Given the description of an element on the screen output the (x, y) to click on. 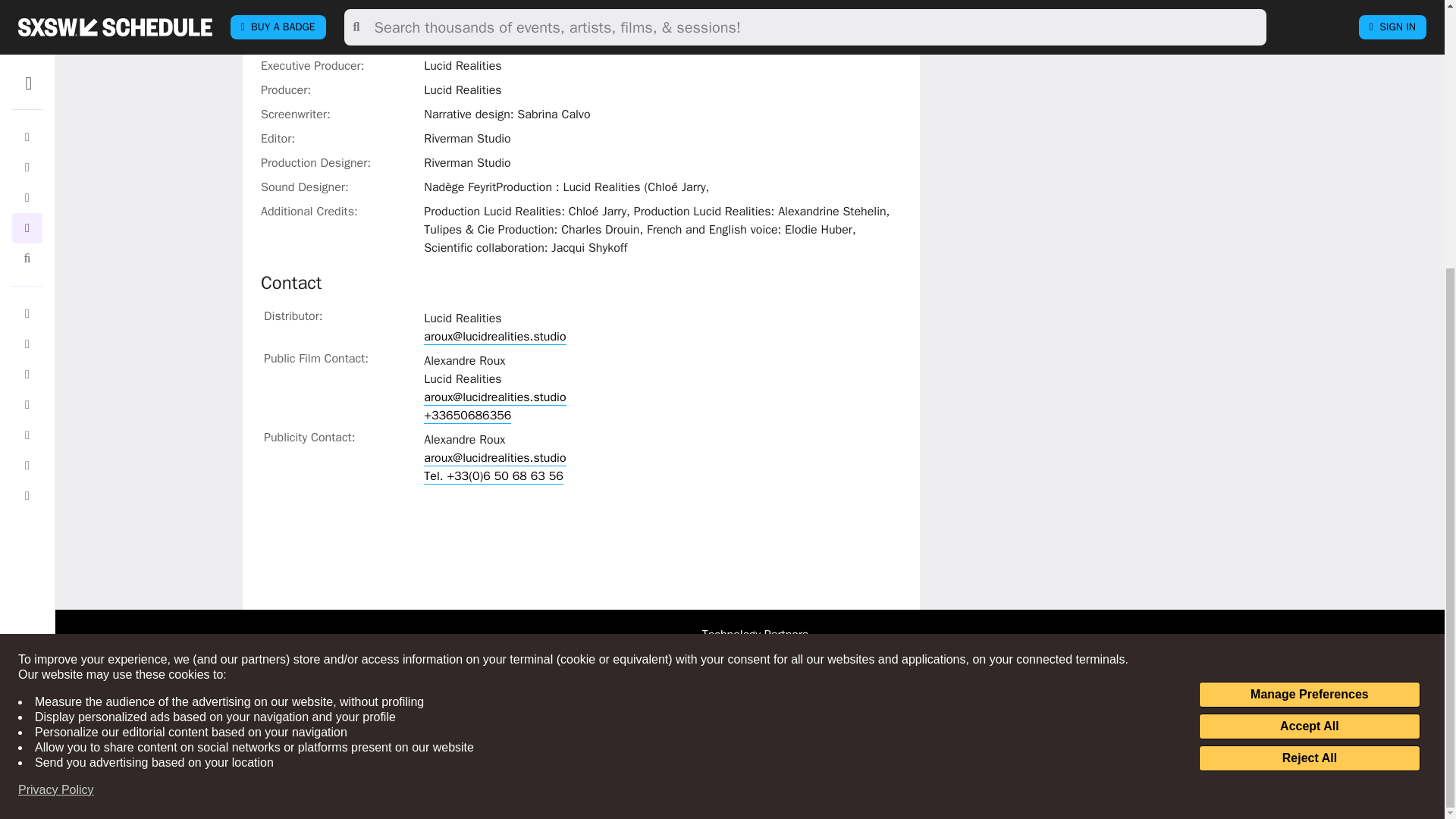
Manage Preferences (1309, 303)
Reject All (1309, 366)
Privacy Policy (55, 398)
Accept All (1309, 335)
